Given the description of an element on the screen output the (x, y) to click on. 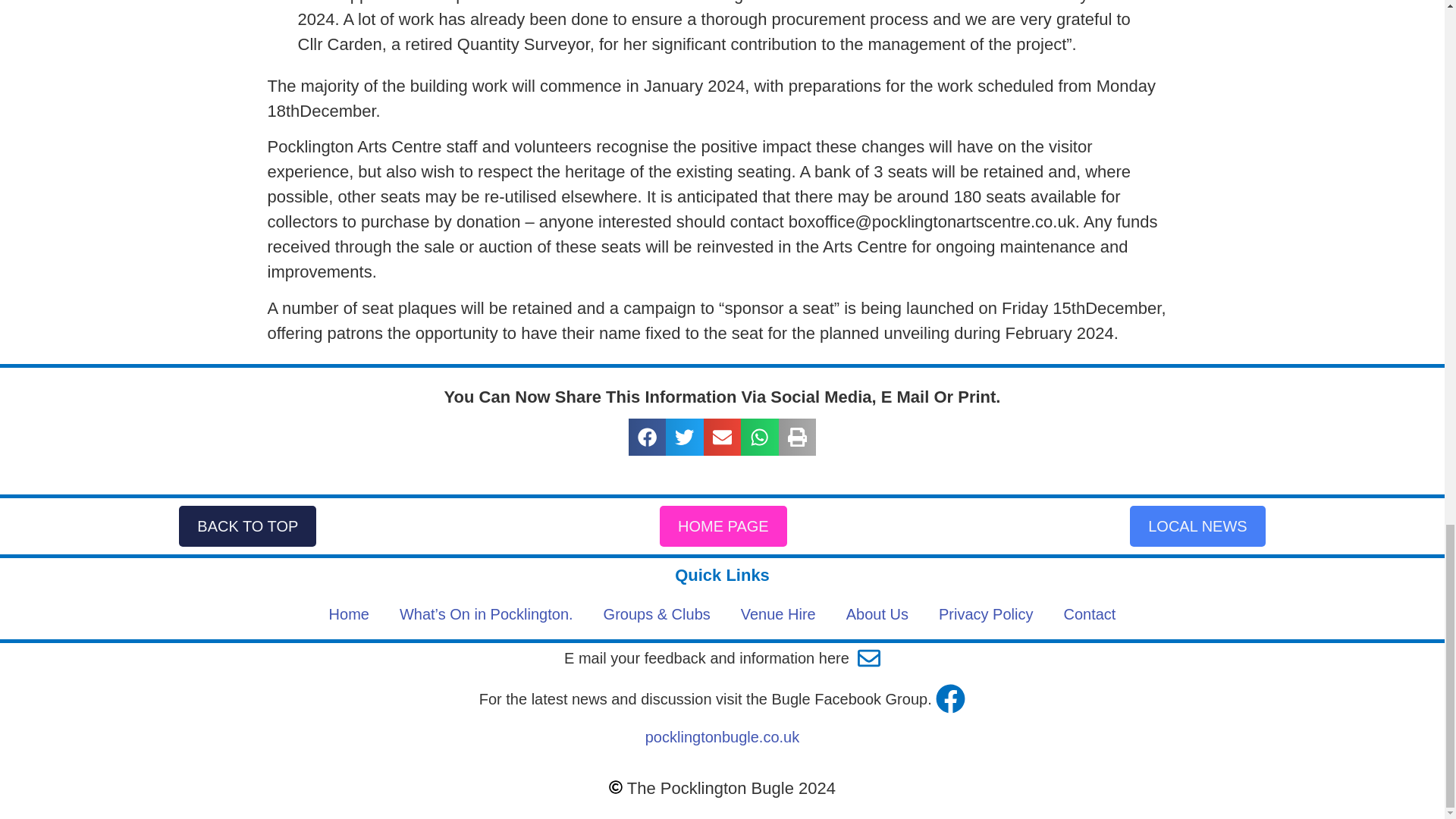
Privacy Policy (985, 614)
BACK TO TOP (247, 526)
Venue Hire (778, 614)
Home (349, 614)
HOME PAGE (723, 526)
About Us (877, 614)
LOCAL NEWS (1197, 526)
Contact (1089, 614)
pocklingtonbugle.co.uk (722, 736)
